Given the description of an element on the screen output the (x, y) to click on. 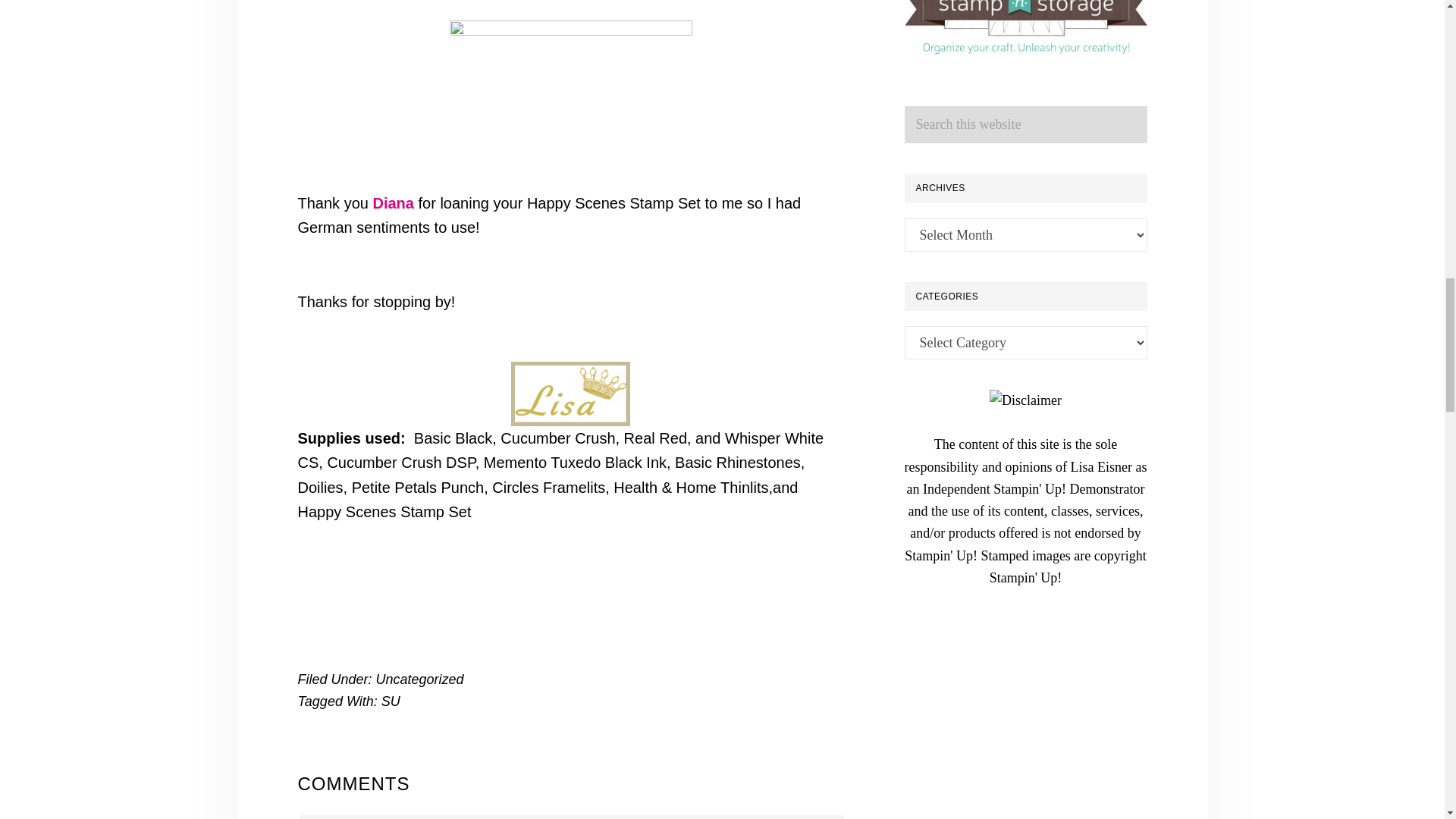
Diana (392, 202)
Uncategorized (419, 679)
SU (390, 701)
